Given the description of an element on the screen output the (x, y) to click on. 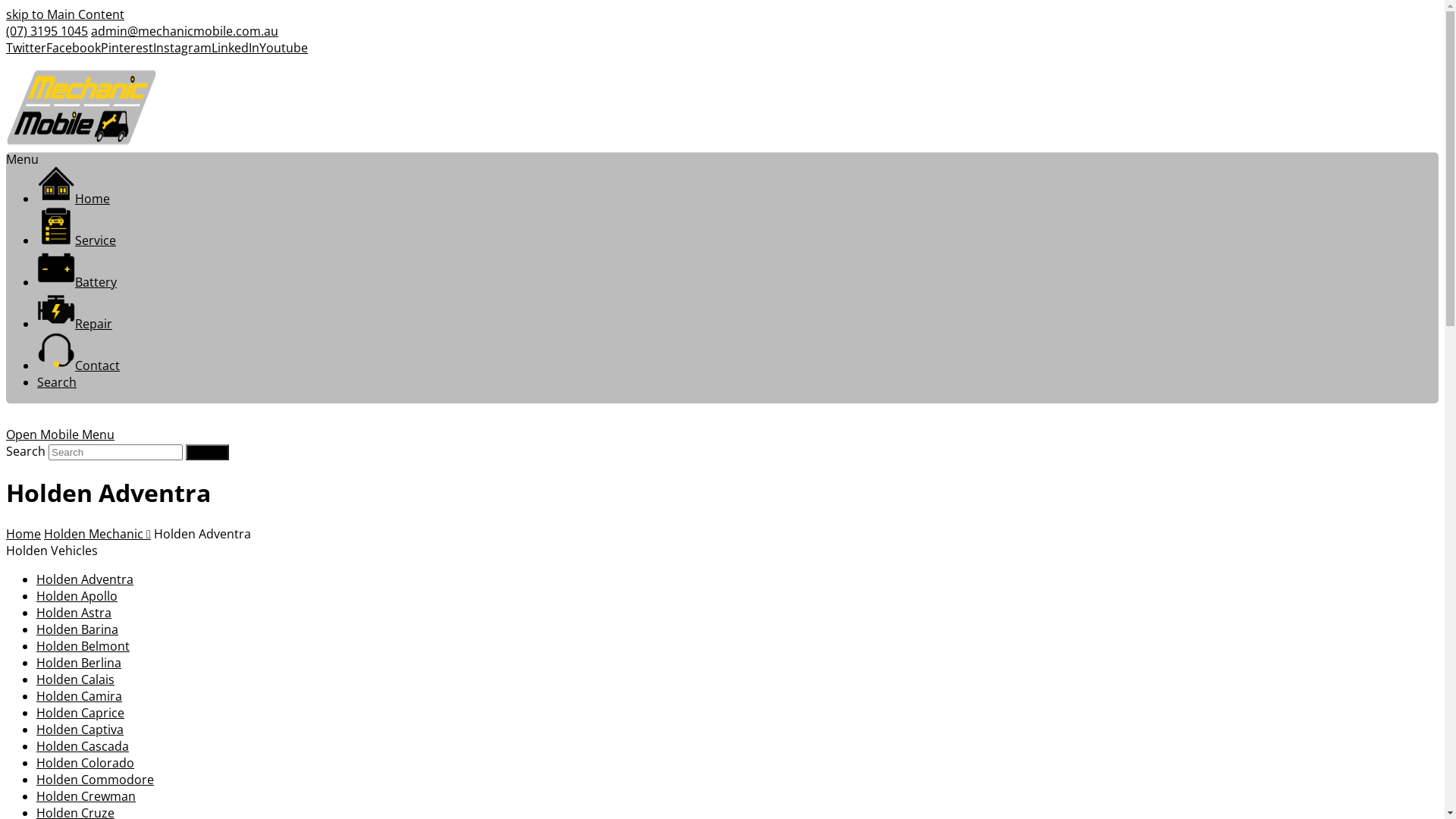
Service Element type: text (76, 240)
Holden Calais Element type: text (75, 679)
Pinterest Element type: text (126, 47)
Twitter Element type: text (26, 47)
Holden Barina Element type: text (77, 629)
Battery Element type: text (76, 281)
Holden Colorado Element type: text (85, 762)
Holden Adventra Element type: text (84, 579)
LinkedIn Element type: text (235, 47)
Holden Belmont Element type: text (82, 645)
Holden Commodore Element type: text (94, 779)
Holden Apollo Element type: text (76, 595)
Holden Caprice Element type: text (80, 712)
Facebook Element type: text (73, 47)
Instagram Element type: text (182, 47)
Search Element type: text (56, 381)
Holden Astra Element type: text (73, 612)
Home Element type: text (73, 198)
Holden Berlina Element type: text (78, 662)
Repair Element type: text (74, 323)
Holden Captiva Element type: text (79, 729)
Holden Camira Element type: text (79, 695)
Open Mobile Menu Element type: text (60, 434)
Holden Crewman Element type: text (85, 795)
skip to Main Content Element type: text (65, 14)
Home Element type: text (23, 533)
Submit Element type: text (207, 452)
(07) 3195 1045 Element type: text (46, 30)
admin@mechanicmobile.com.au Element type: text (184, 30)
Menu Element type: text (22, 158)
Youtube Element type: text (283, 47)
Holden Cascada Element type: text (82, 745)
Contact Element type: text (78, 365)
